Given the description of an element on the screen output the (x, y) to click on. 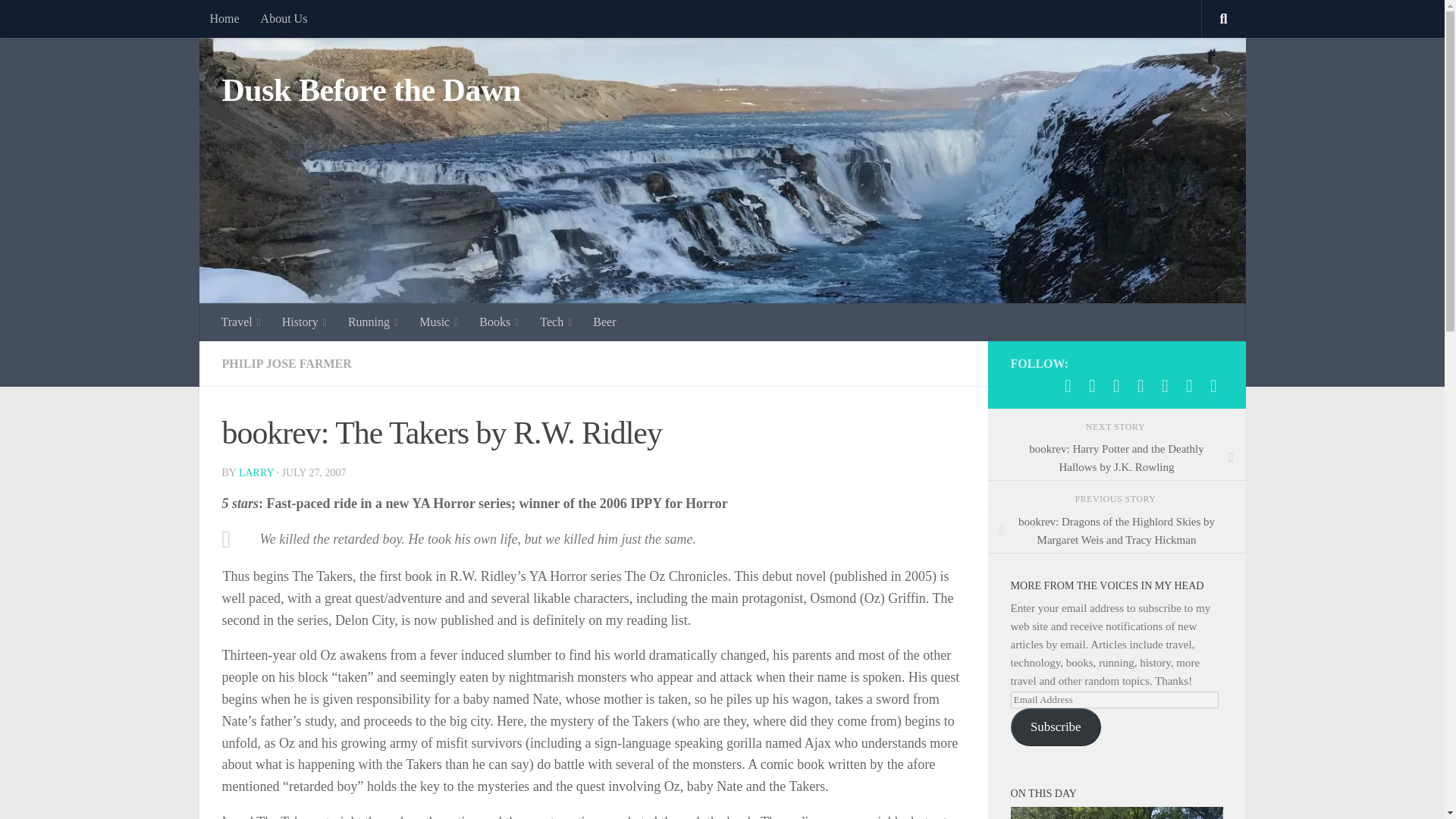
Posts by Larry (255, 472)
Skip to content (59, 20)
About Us (284, 18)
Dusk Before the Dawn (370, 90)
Home (223, 18)
